Given the description of an element on the screen output the (x, y) to click on. 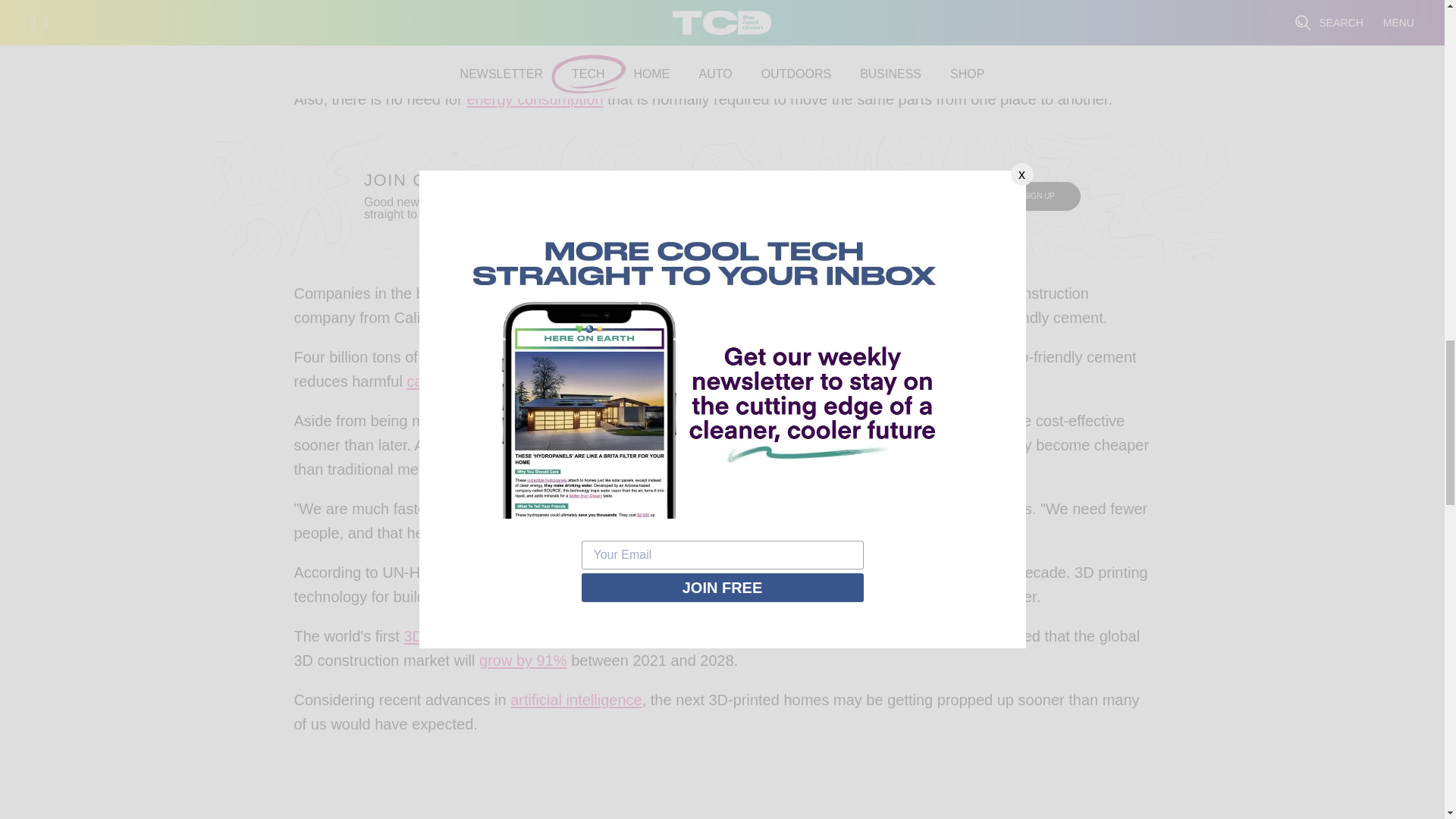
Sign Up (1038, 195)
